Given the description of an element on the screen output the (x, y) to click on. 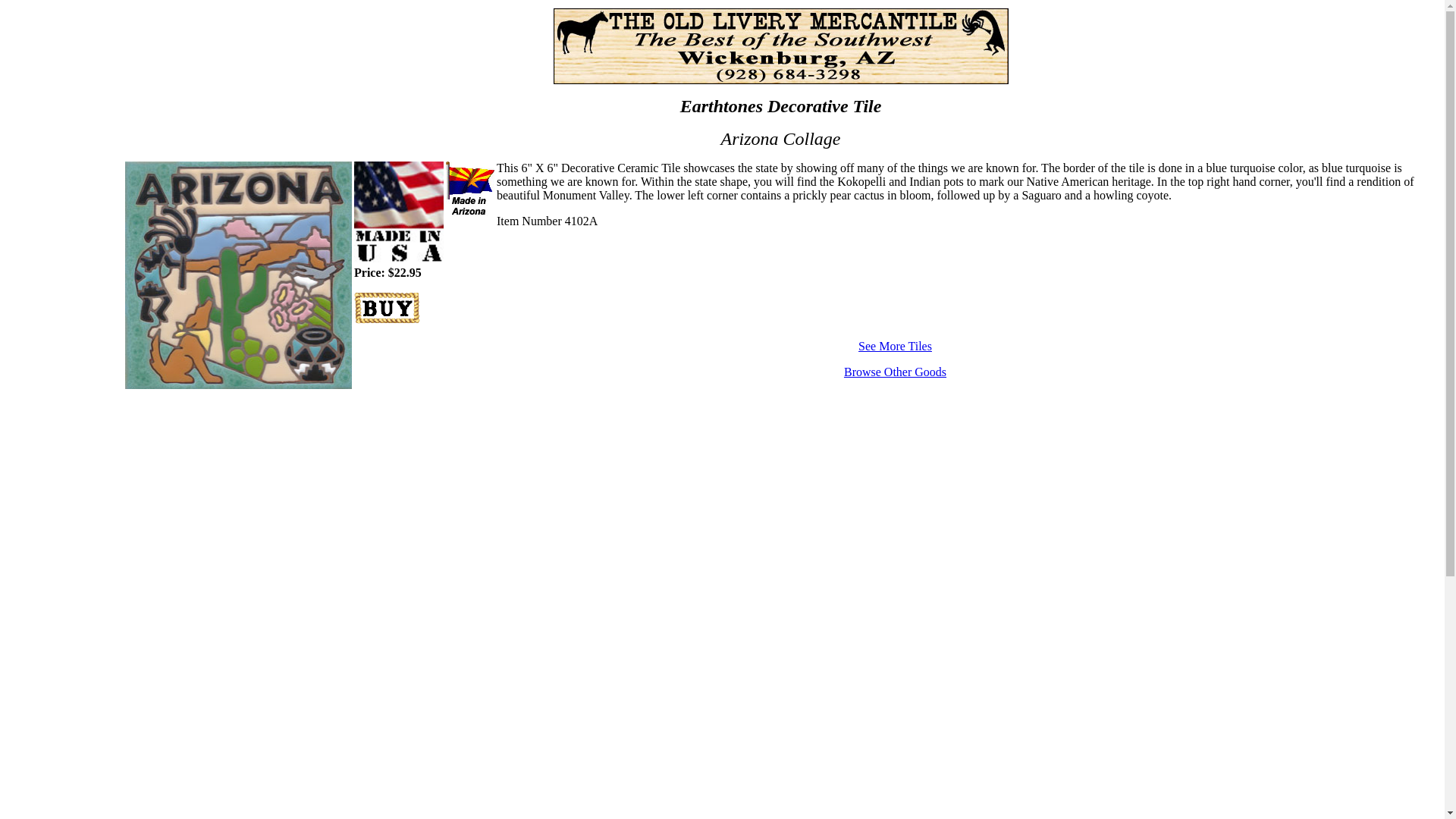
Browse Other Goods (895, 371)
See More Tiles (895, 345)
